Given the description of an element on the screen output the (x, y) to click on. 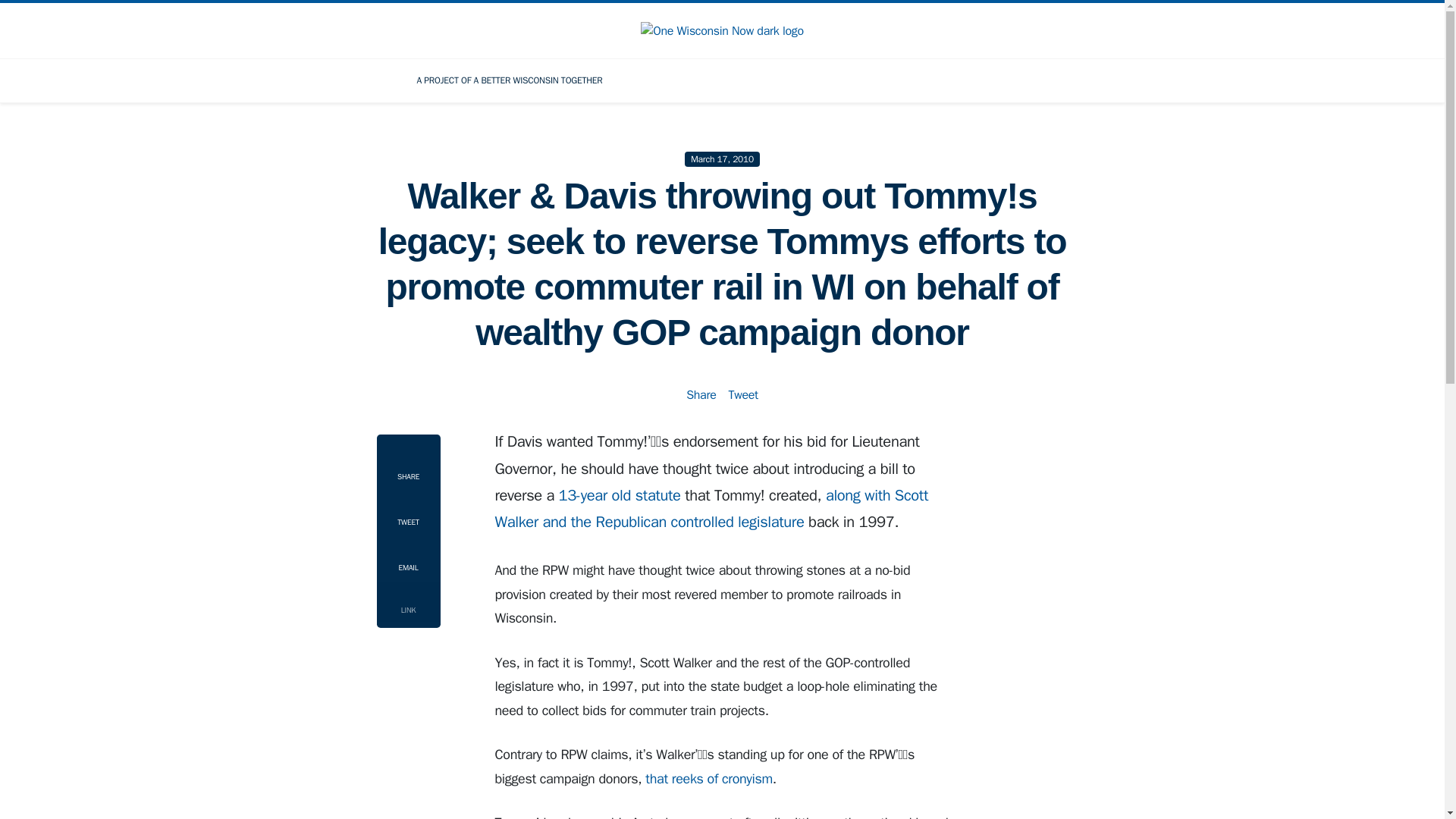
EMAIL (407, 558)
Twitter (979, 80)
Share (700, 394)
TWEET (407, 512)
SHARE (407, 464)
13-year old statute (620, 495)
LINK (407, 601)
Facebook (936, 80)
A PROJECT OF A BETTER WISCONSIN TOGETHER (508, 79)
Tweet (742, 394)
YouTube (1064, 80)
Home (379, 80)
that reeks of cronyism (709, 778)
Instagram (1022, 80)
